Given the description of an element on the screen output the (x, y) to click on. 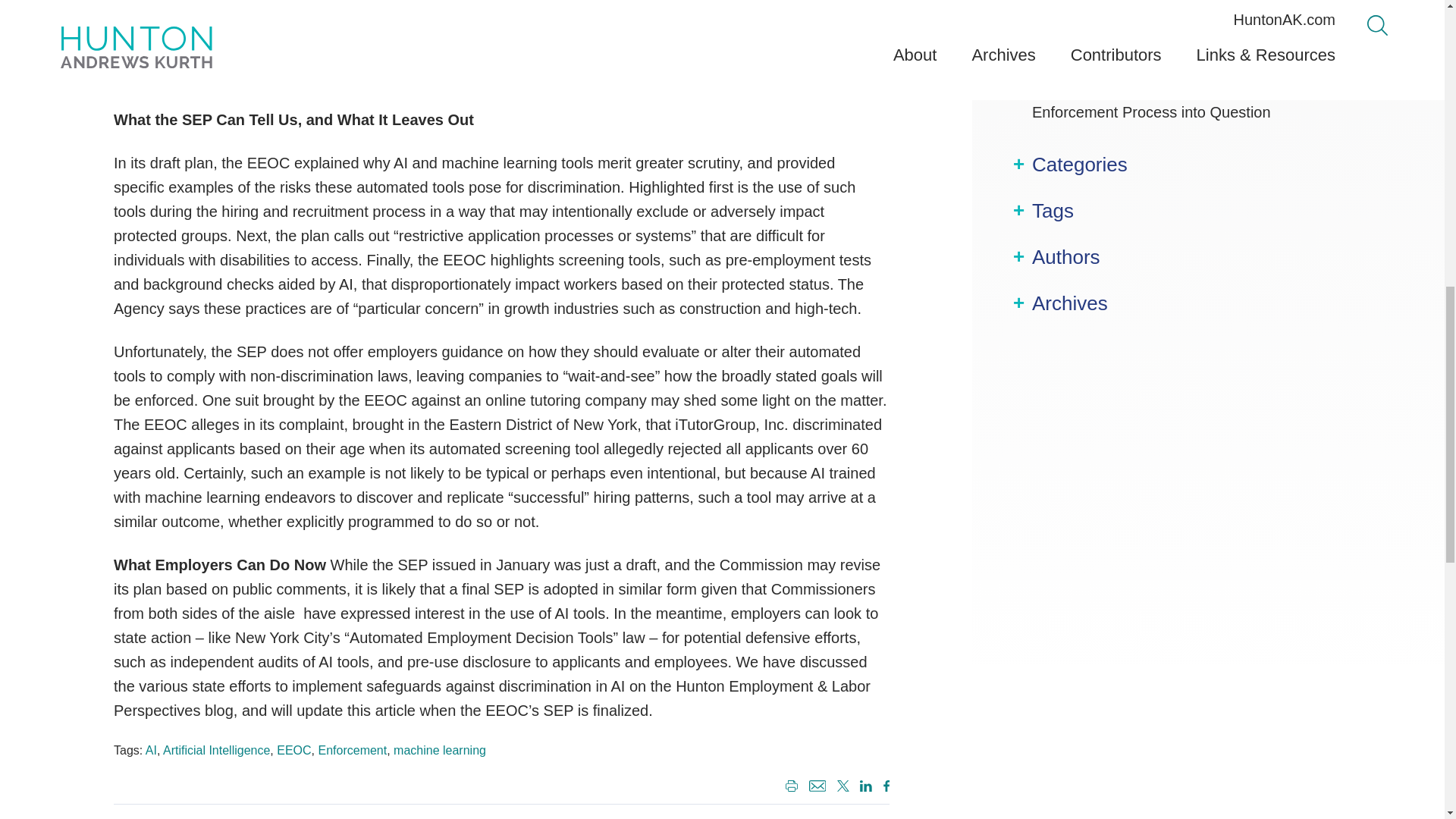
Linkedin (863, 787)
machine learning (439, 749)
Email (818, 785)
EEOC (293, 749)
Enforcement (352, 749)
here (491, 27)
Facebook (882, 787)
AI (151, 749)
Print (788, 787)
Email (815, 787)
Linkedin (866, 785)
Artificial Intelligence (216, 749)
Print (791, 785)
Facebook (886, 785)
